Given the description of an element on the screen output the (x, y) to click on. 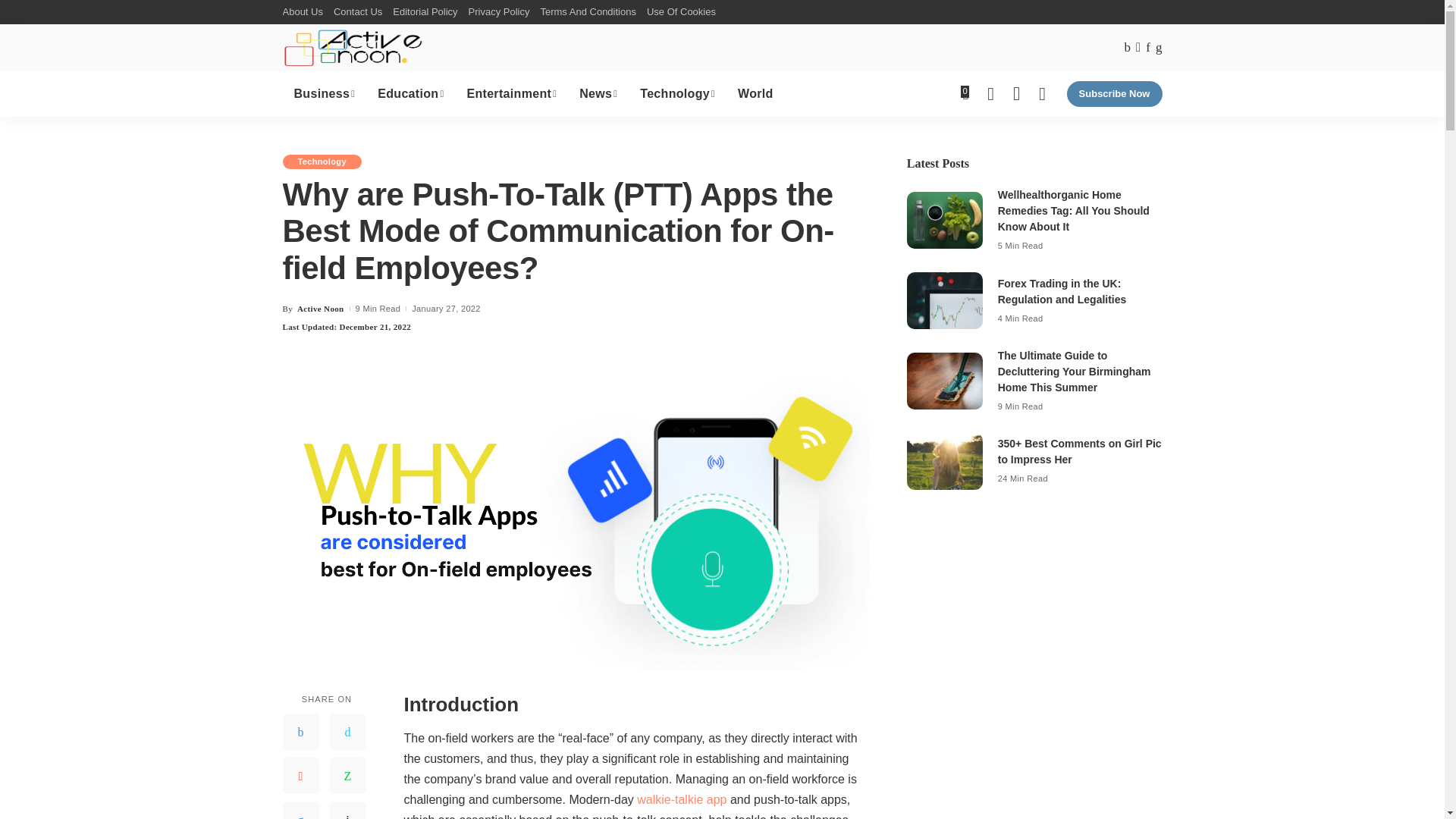
Use Of Cookies (681, 11)
About Us (304, 11)
Facebook (300, 731)
Editorial Policy (425, 11)
Twitter (347, 731)
linkedIn (300, 810)
Active Noon (353, 47)
Privacy Policy (499, 11)
Pinterest (300, 775)
Contact Us (358, 11)
